Given the description of an element on the screen output the (x, y) to click on. 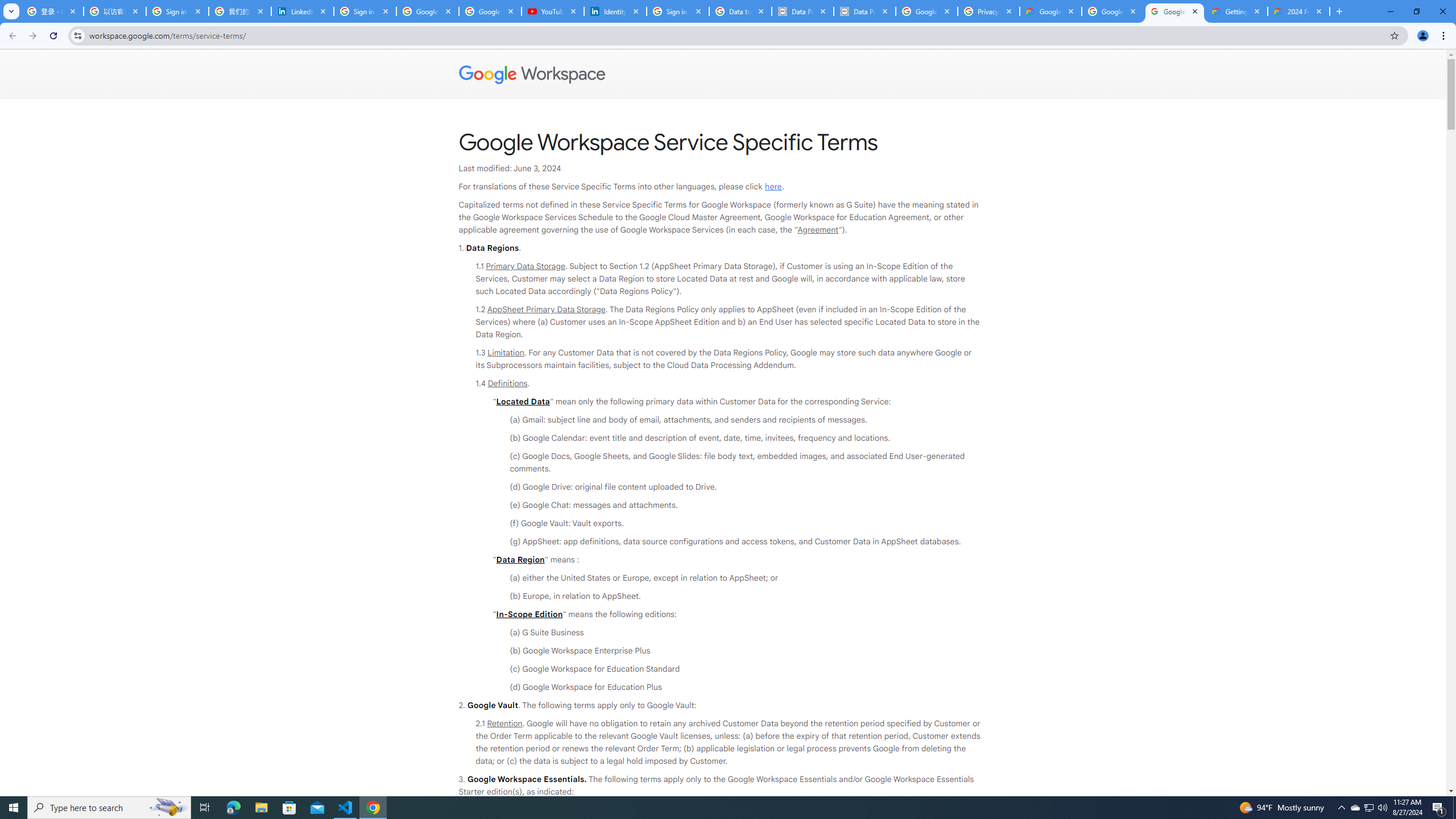
Sign in - Google Accounts (365, 11)
Google Workspace - Specific Terms (1174, 11)
Google Workspace - Specific Terms (1111, 11)
LinkedIn Privacy Policy (302, 11)
